Given the description of an element on the screen output the (x, y) to click on. 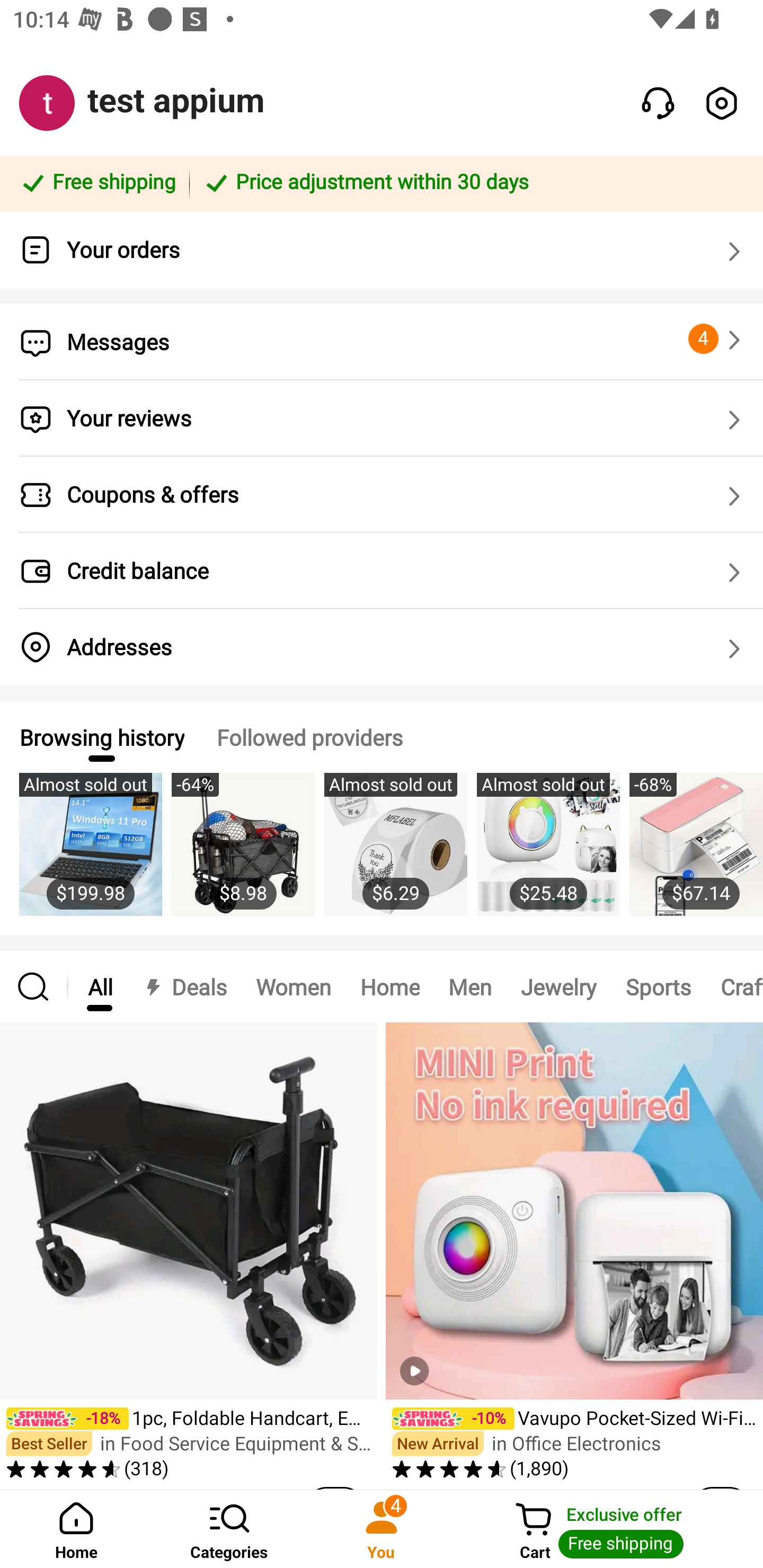
test appium (175, 100)
Free shipping (97, 183)
Price adjustment within 30 days (472, 183)
Your orders (381, 249)
Messages 4 (381, 342)
4 (717, 339)
Your reviews (381, 418)
Coupons & offers (381, 494)
Credit balance (381, 571)
Addresses (381, 647)
Browsing history (101, 736)
Followed providers (308, 736)
Almost sold out $199.98 (90, 853)
-64% $8.98 (242, 853)
Almost sold out $6.29 (395, 853)
Almost sold out $25.48 (547, 853)
-68% $67.14 (696, 853)
All (99, 986)
Deals Deals Deals (183, 986)
Women (293, 986)
Home (389, 986)
Men (469, 986)
Jewelry (558, 986)
Sports (658, 986)
Crafts (734, 986)
Home (76, 1528)
Categories (228, 1528)
You 4 You (381, 1528)
Cart Cart Exclusive offer (610, 1528)
